Given the description of an element on the screen output the (x, y) to click on. 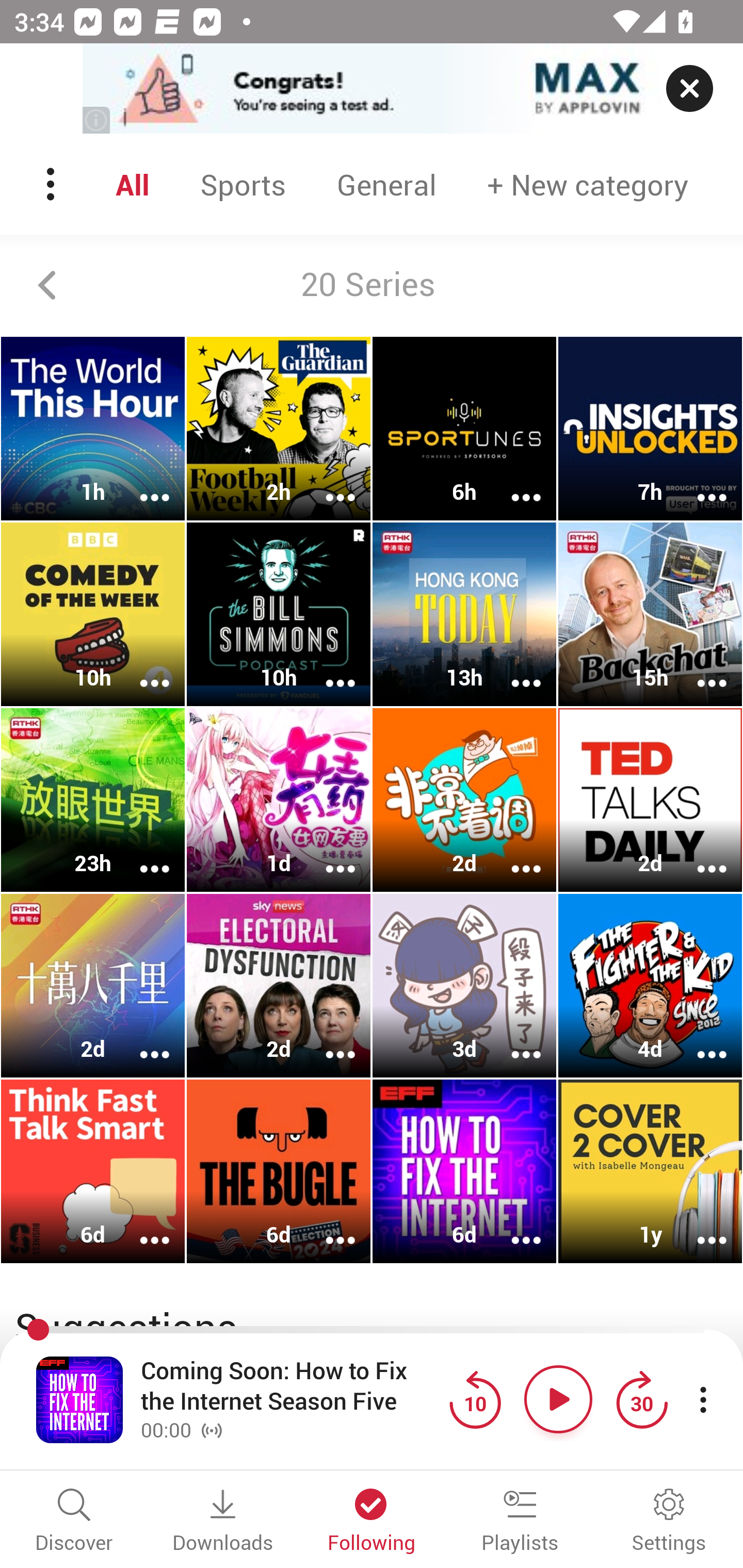
app-monetization (371, 88)
(i) (96, 119)
Menu (52, 184)
All (132, 184)
Sports (242, 184)
General (386, 184)
New category + New category (588, 184)
20 Series (371, 285)
The World This Hour 1h More options More options (92, 428)
Football Weekly 2h More options More options (278, 428)
Sportunes HK 6h More options More options (464, 428)
Insights Unlocked 7h More options More options (650, 428)
More options (141, 484)
More options (326, 484)
More options (512, 484)
More options (698, 484)
Comedy of the Week 10h More options More options (92, 614)
Hong Kong Today 13h More options More options (464, 614)
Backchat 15h More options More options (650, 614)
More options (141, 669)
More options (326, 669)
More options (512, 669)
More options (698, 669)
放眼世界 23h More options More options (92, 799)
女王有药丨爆笑脱口秀 1d More options More options (278, 799)
非常不着调 2d More options More options (464, 799)
TED Talks Daily 2d More options More options (650, 799)
More options (141, 856)
More options (326, 856)
More options (512, 856)
More options (698, 856)
十萬八千里 2d More options More options (92, 985)
Electoral Dysfunction 2d More options More options (278, 985)
段子来了 3d More options More options (464, 985)
The Fighter & The Kid 4d More options More options (650, 985)
More options (141, 1041)
More options (326, 1041)
More options (512, 1041)
More options (698, 1041)
The Bugle 6d More options More options (278, 1170)
Cover 2 Cover 1y More options More options (650, 1170)
More options (141, 1227)
More options (326, 1227)
More options (512, 1227)
More options (698, 1227)
Open fullscreen player (79, 1399)
More player controls (703, 1399)
Coming Soon: How to Fix the Internet Season Five (290, 1385)
Play button (558, 1398)
Jump back (475, 1399)
Jump forward (641, 1399)
Discover (74, 1521)
Downloads (222, 1521)
Following (371, 1521)
Playlists (519, 1521)
Settings (668, 1521)
